Given the description of an element on the screen output the (x, y) to click on. 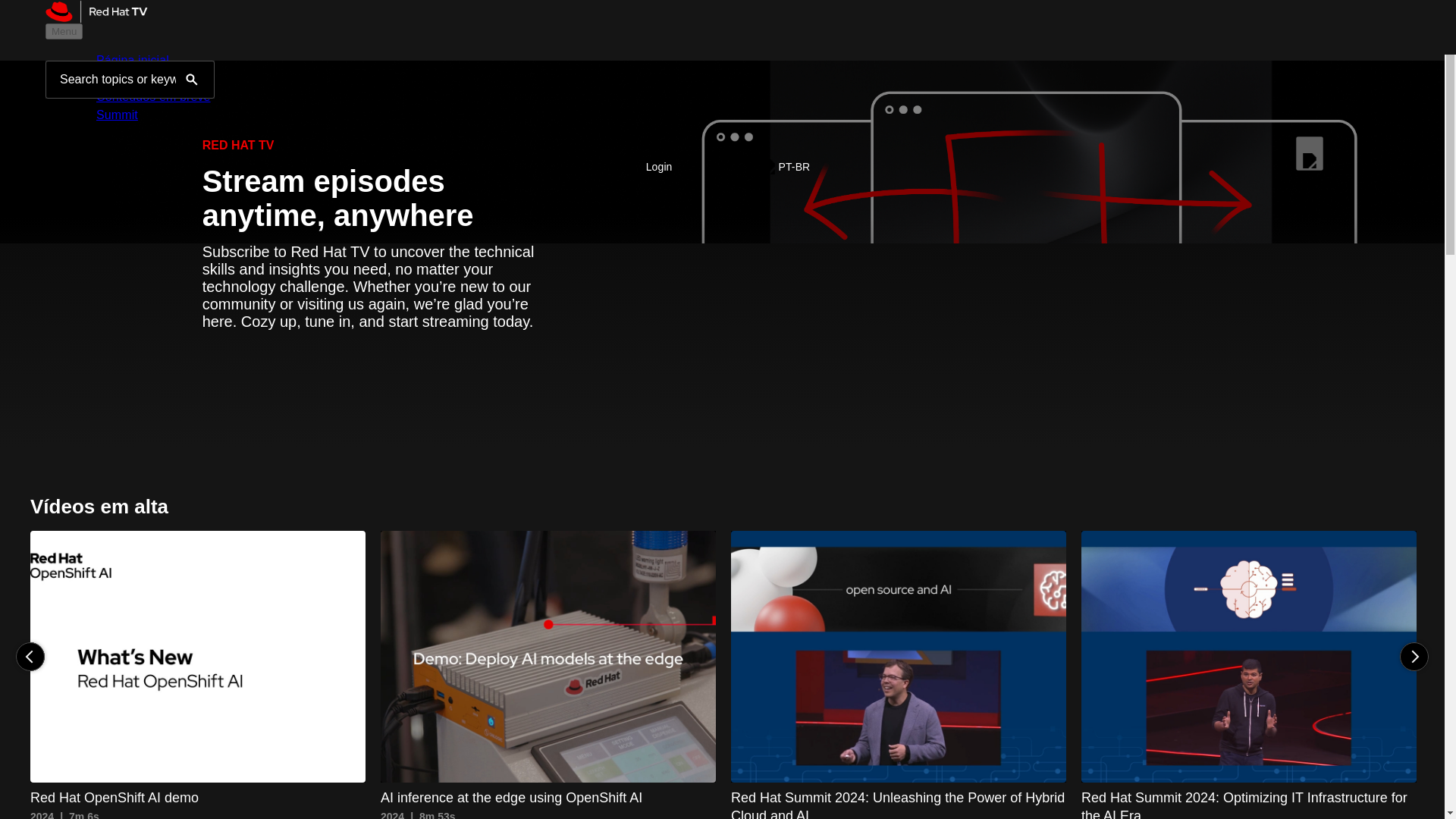
Stream episodes anytime, anywhere (548, 674)
PT-BR (372, 197)
Search (197, 674)
